Given the description of an element on the screen output the (x, y) to click on. 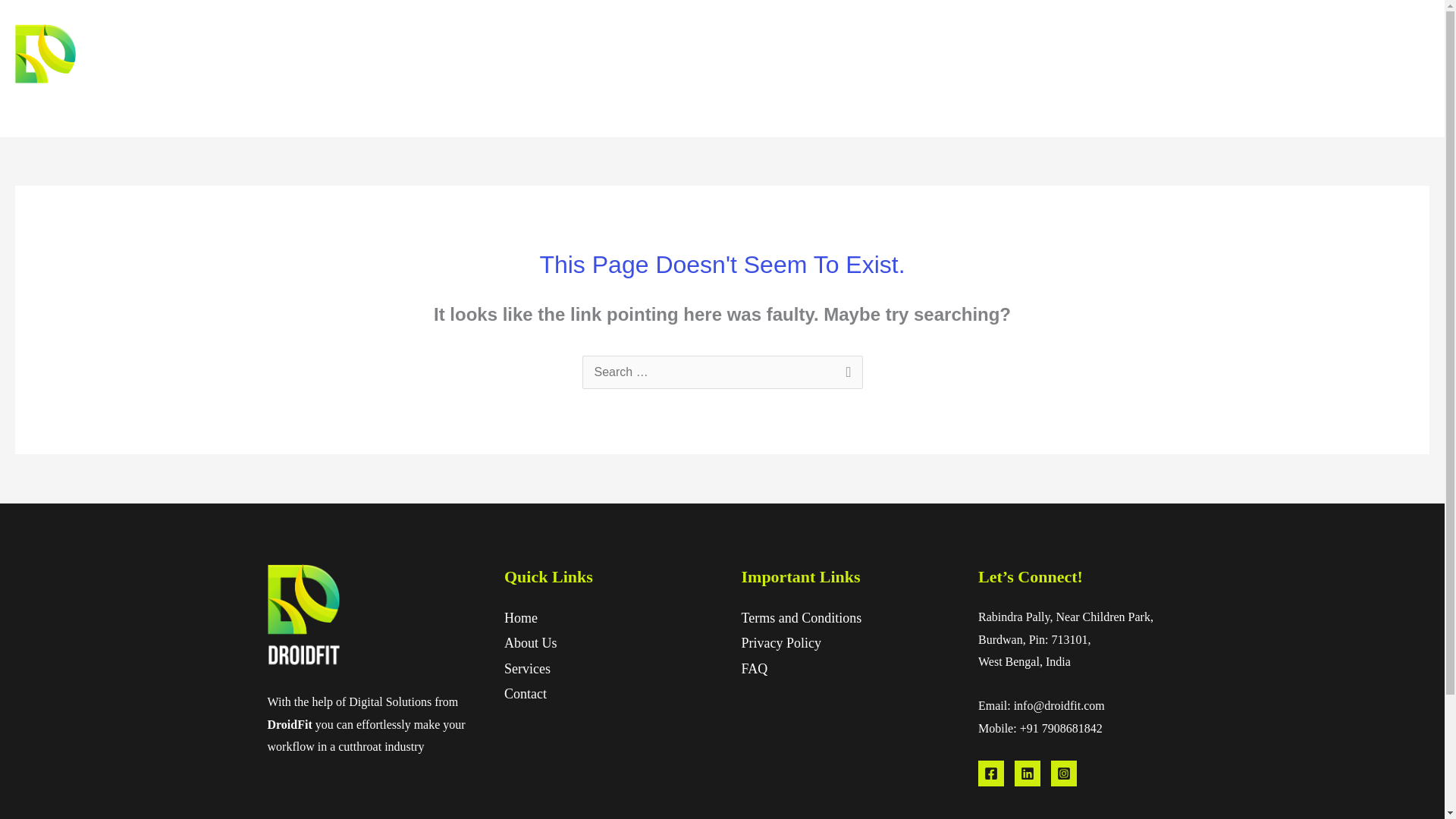
Home (1189, 68)
Home (520, 617)
About Us (530, 642)
Contact (525, 693)
Terms and Conditions (801, 617)
Services (1327, 68)
Privacy Policy (781, 642)
FAQ (754, 668)
Services (526, 668)
Contact (1395, 68)
